Given the description of an element on the screen output the (x, y) to click on. 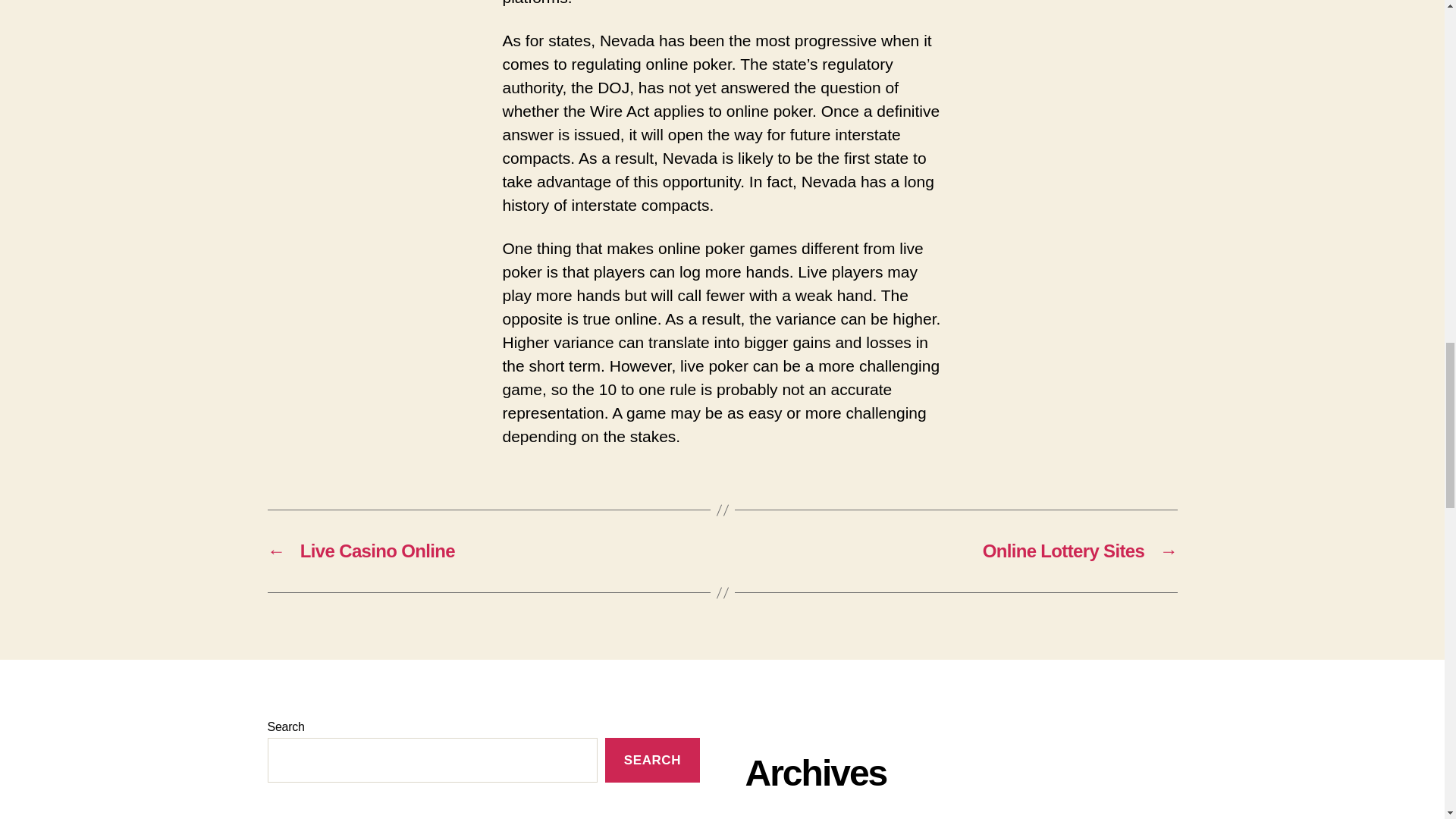
SEARCH (651, 759)
